Given the description of an element on the screen output the (x, y) to click on. 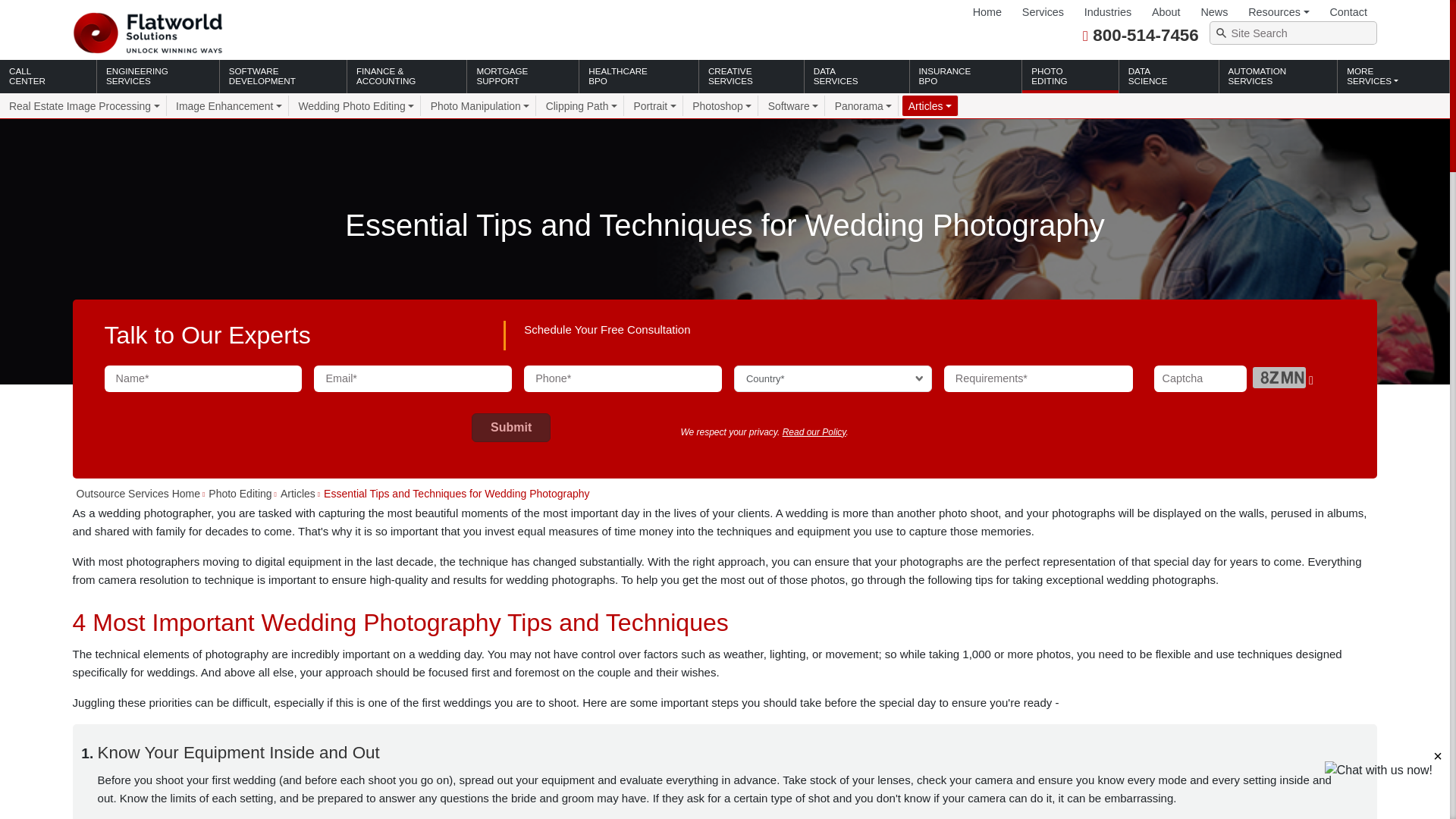
800-514-7456 (1145, 35)
Services (1042, 11)
Submit (510, 427)
Home (987, 11)
